Given the description of an element on the screen output the (x, y) to click on. 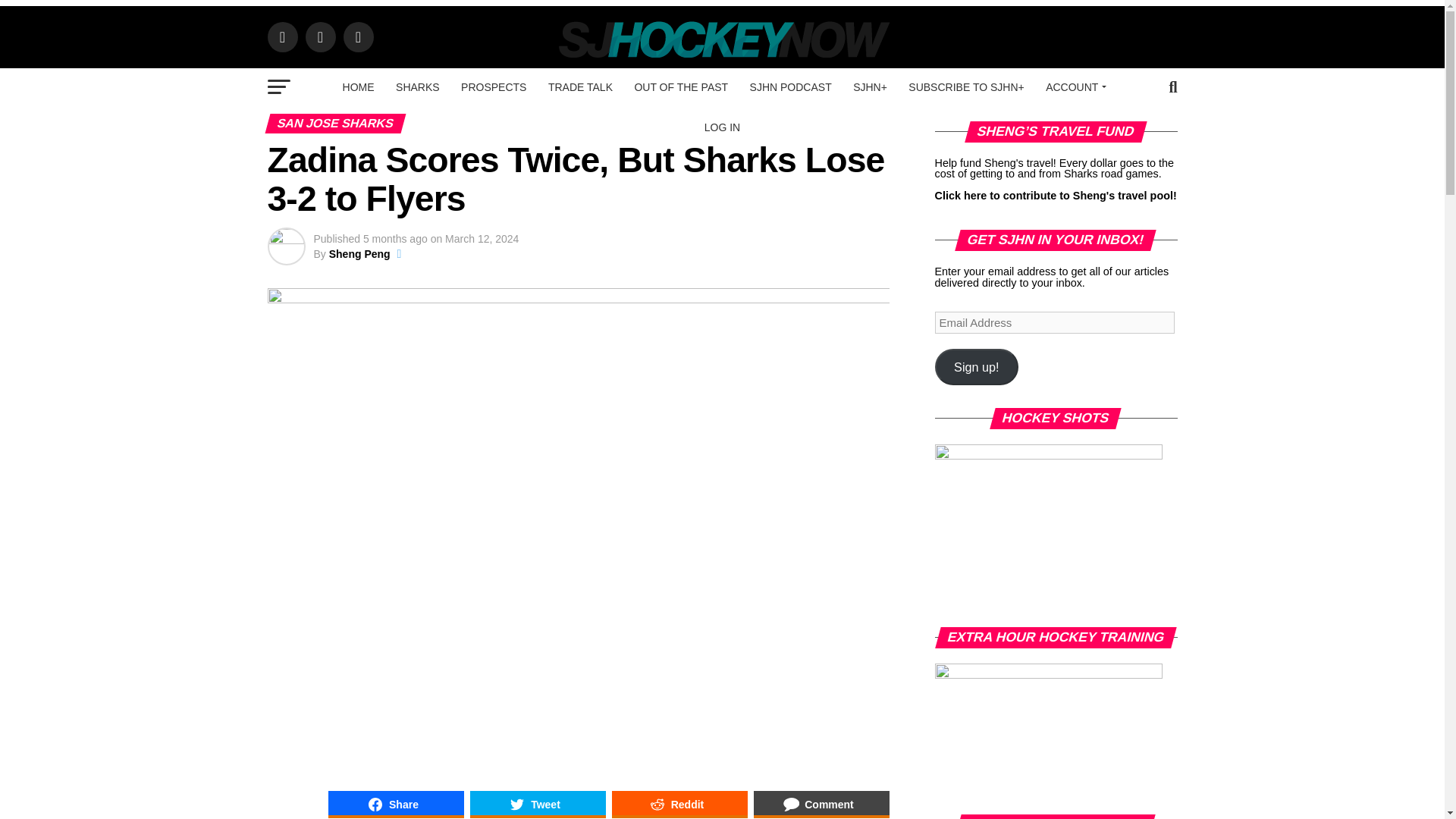
PROSPECTS (493, 86)
Share on Comment (821, 804)
HOME (358, 86)
SHARKS (417, 86)
Posts by Sheng Peng (359, 254)
TRADE TALK (579, 86)
Share on Tweet (537, 804)
Share on Reddit (678, 804)
Share on Share (395, 804)
